Given the description of an element on the screen output the (x, y) to click on. 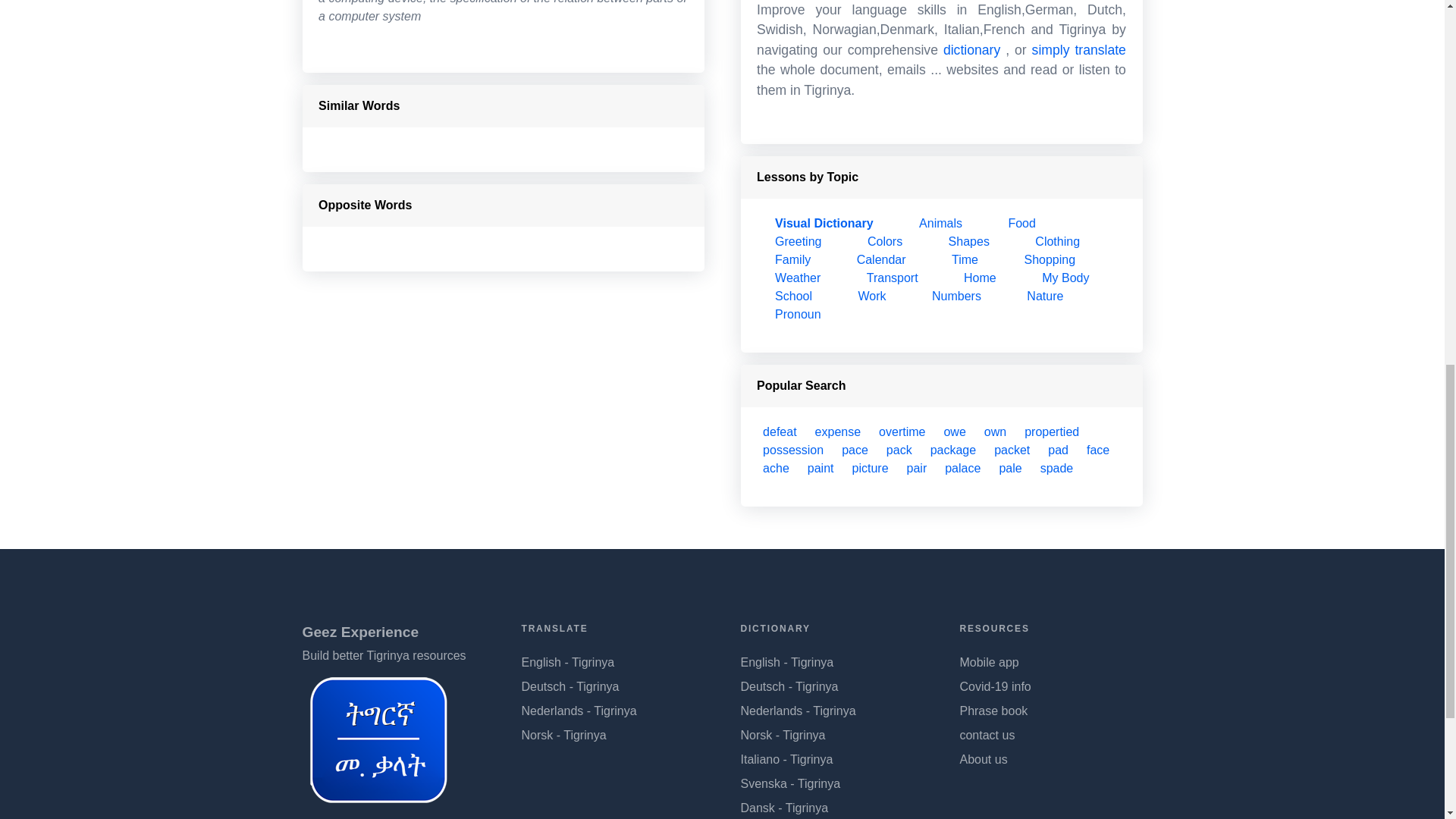
Food (1021, 223)
Shapes (969, 241)
Visual Dictionary (823, 223)
Greeting (797, 241)
Animals (940, 223)
Colors (884, 241)
Clothing (1057, 241)
dictionary (971, 49)
simply translate (1078, 49)
